Given the description of an element on the screen output the (x, y) to click on. 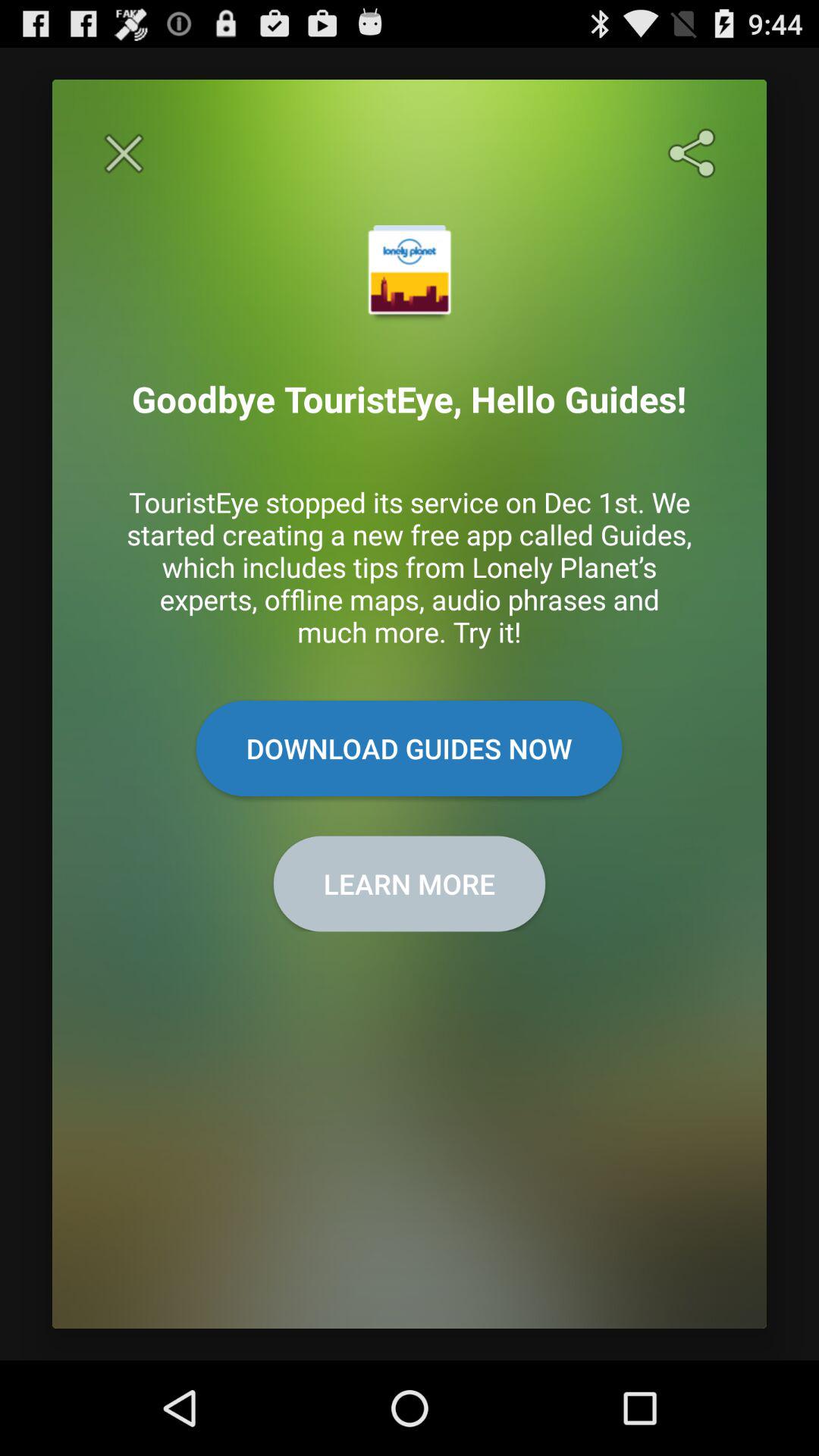
turn off the app above goodbye touristeye hello item (694, 153)
